Given the description of an element on the screen output the (x, y) to click on. 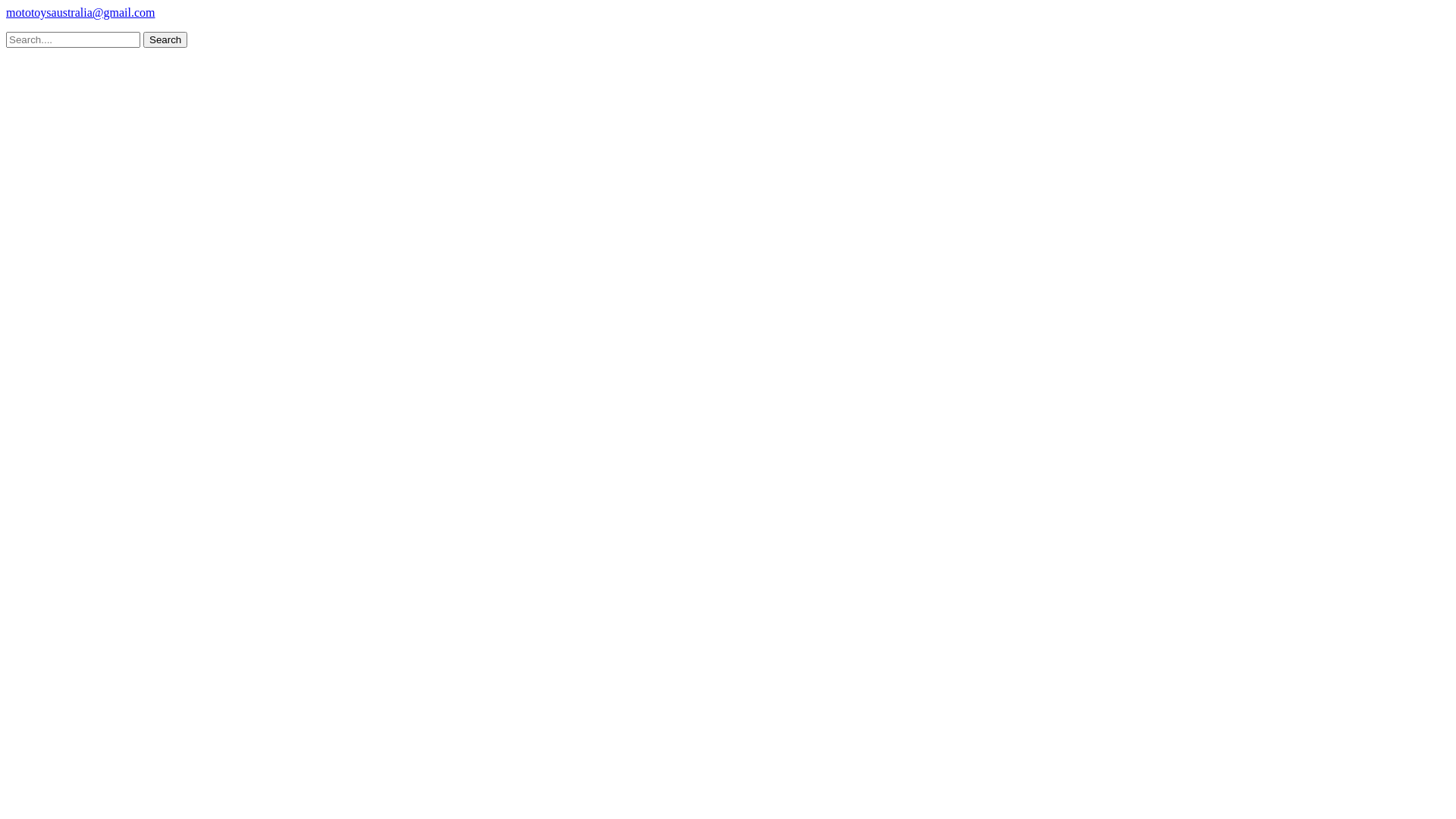
mototoysaustralia@gmail.com Element type: text (80, 12)
Search Element type: text (165, 39)
